Given the description of an element on the screen output the (x, y) to click on. 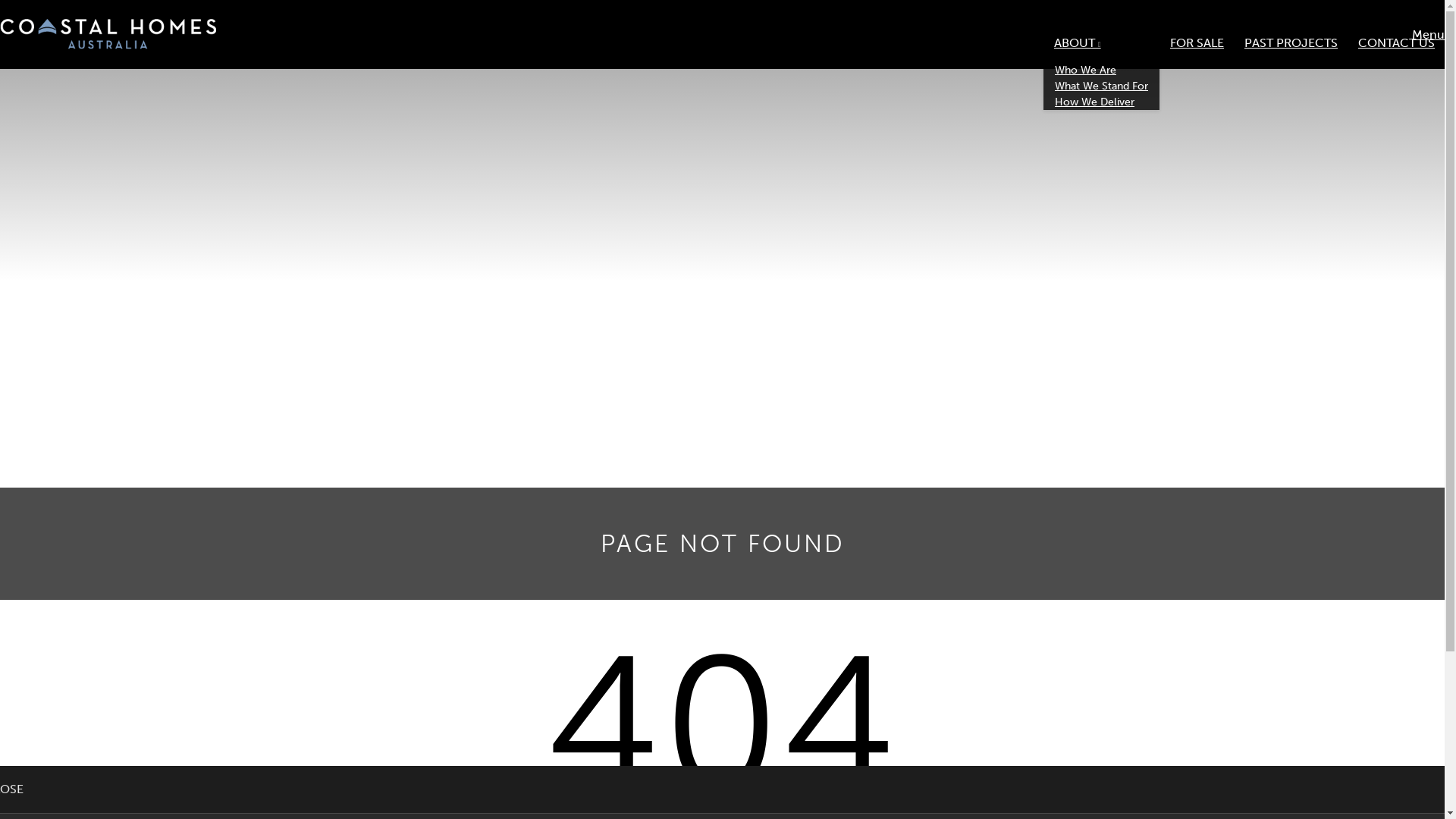
ABOUT Element type: text (1101, 42)
How We Deliver Element type: text (1094, 101)
FOR SALE Element type: text (1196, 42)
Who We Are Element type: text (1085, 70)
PAST PROJECTS Element type: text (1290, 42)
CONTACT US Element type: text (1396, 42)
Menu Element type: text (1428, 34)
What We Stand For Element type: text (1101, 86)
